Given the description of an element on the screen output the (x, y) to click on. 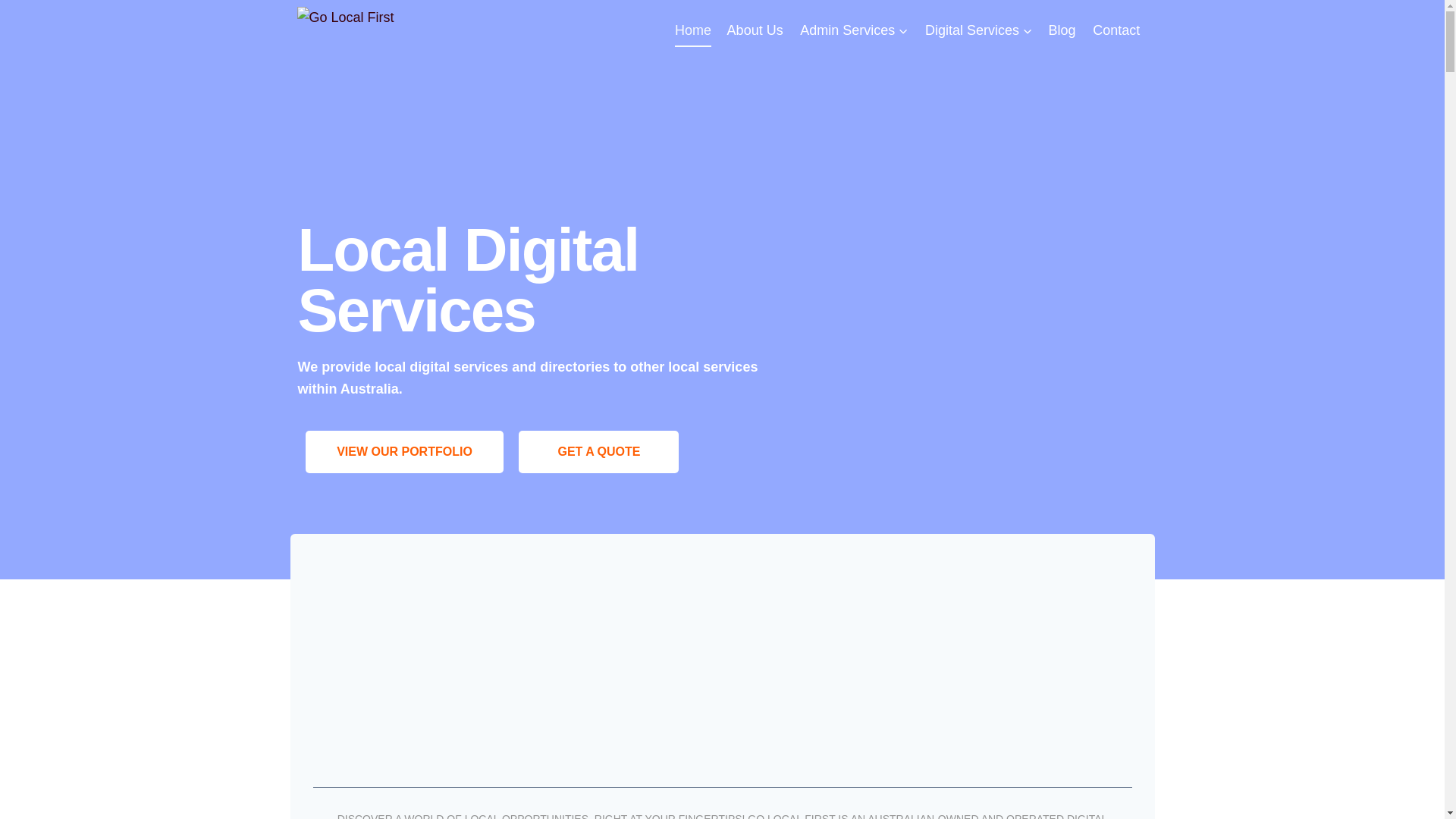
GET A QUOTE Element type: text (598, 451)
Contact Element type: text (1116, 29)
VIEW OUR PORTFOLIO Element type: text (403, 451)
Admin Services Element type: text (853, 29)
Blog Element type: text (1062, 29)
Digital Services Element type: text (978, 29)
About Us Element type: text (754, 29)
Home Element type: text (692, 29)
